Given the description of an element on the screen output the (x, y) to click on. 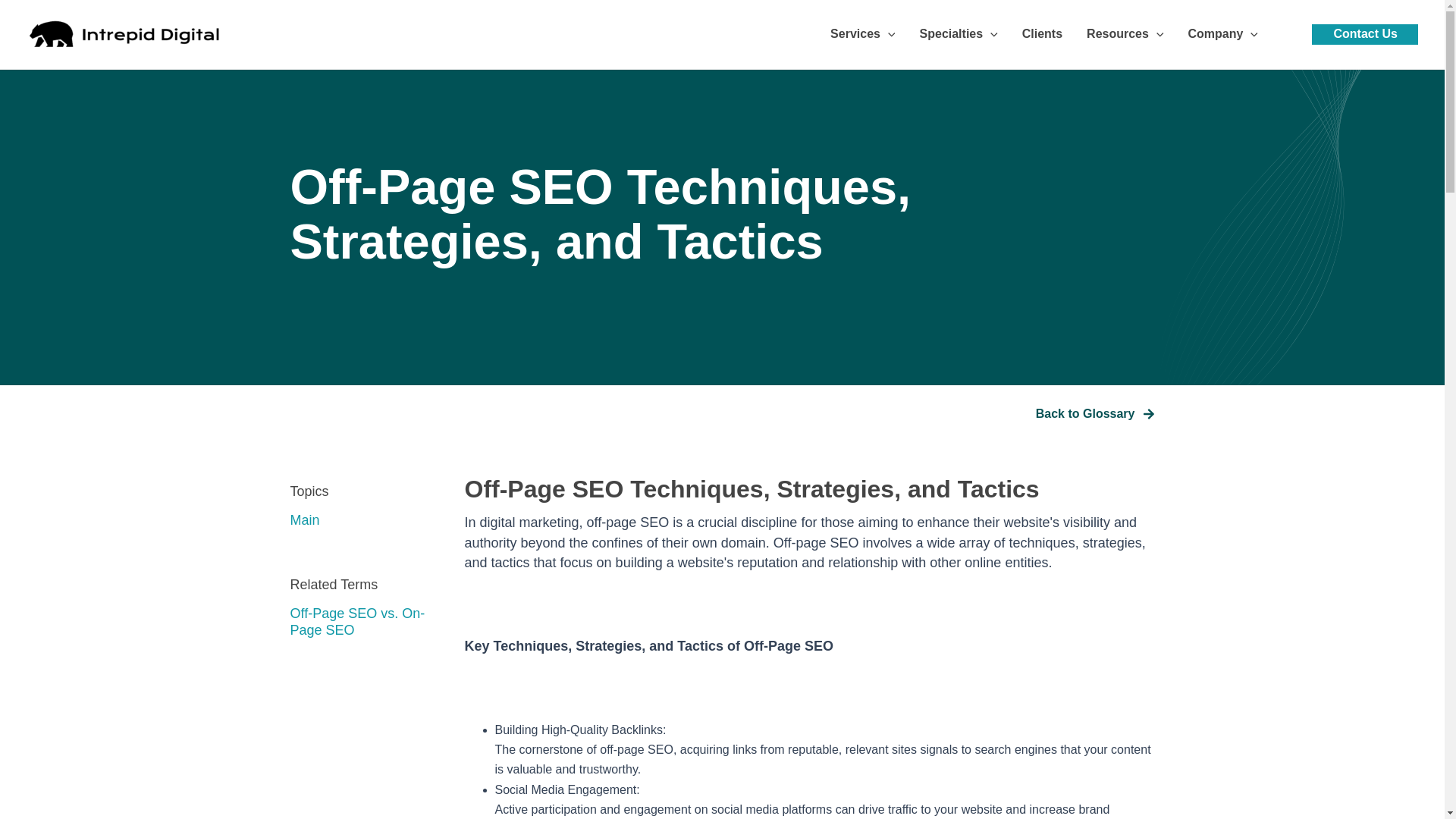
Resources (1124, 34)
Clients (1042, 34)
View all posts by Antonella Ziebell (61, 8)
Services (862, 34)
Specialties (958, 34)
